Given the description of an element on the screen output the (x, y) to click on. 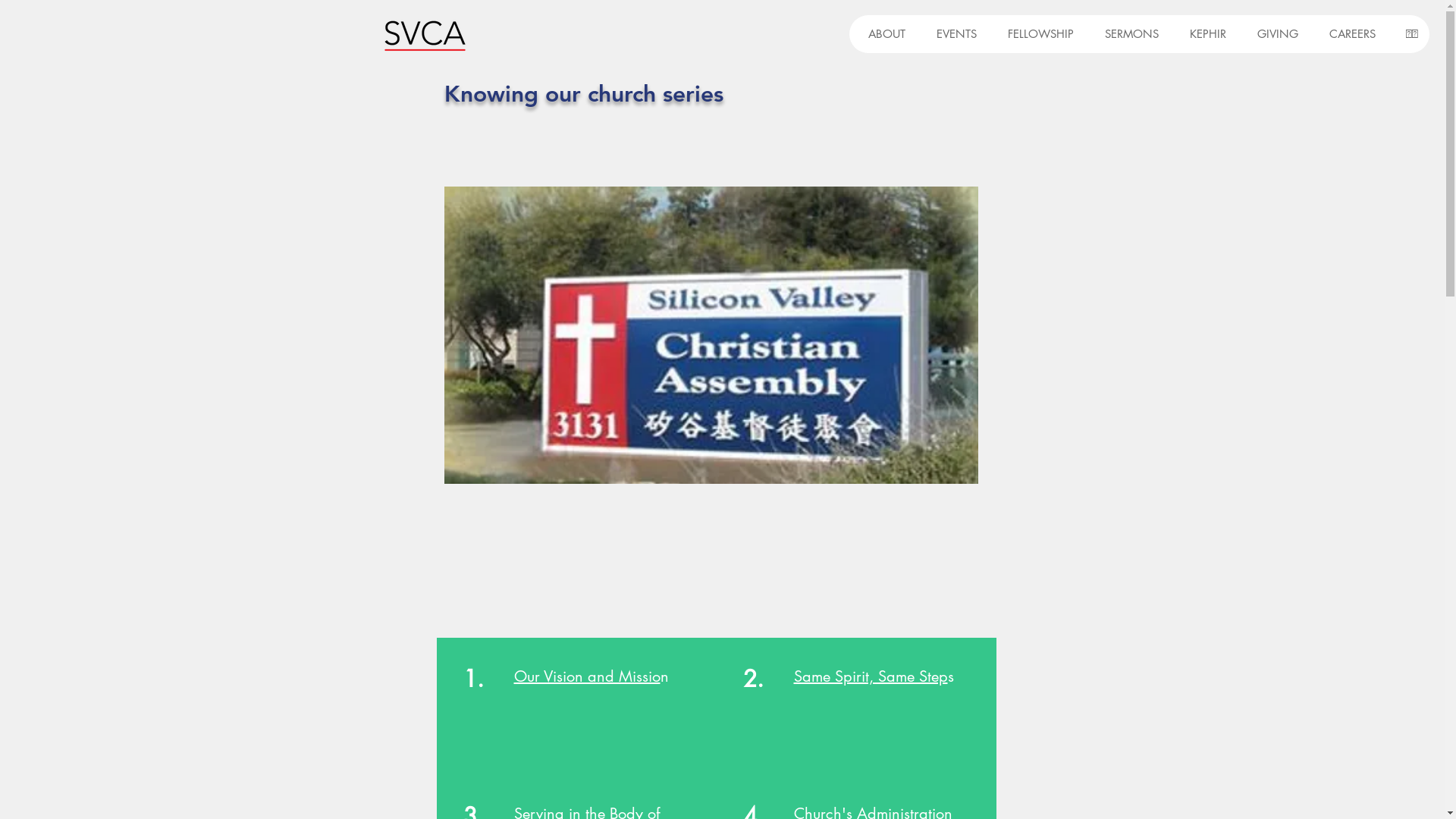
SERMONS Element type: text (1127, 34)
GIVING Element type: text (1273, 34)
Our Vision and Missio Element type: text (587, 676)
CAREERS Element type: text (1347, 34)
GIVE THEM ME  Element type: text (1034, 701)
KEPHIR Element type: text (1203, 34)
FELLOWSHIP Element type: text (1036, 34)
ABOUT Element type: text (882, 34)
EVENTS Element type: text (952, 34)
Same Spirit, Same Step Element type: text (870, 676)
